Given the description of an element on the screen output the (x, y) to click on. 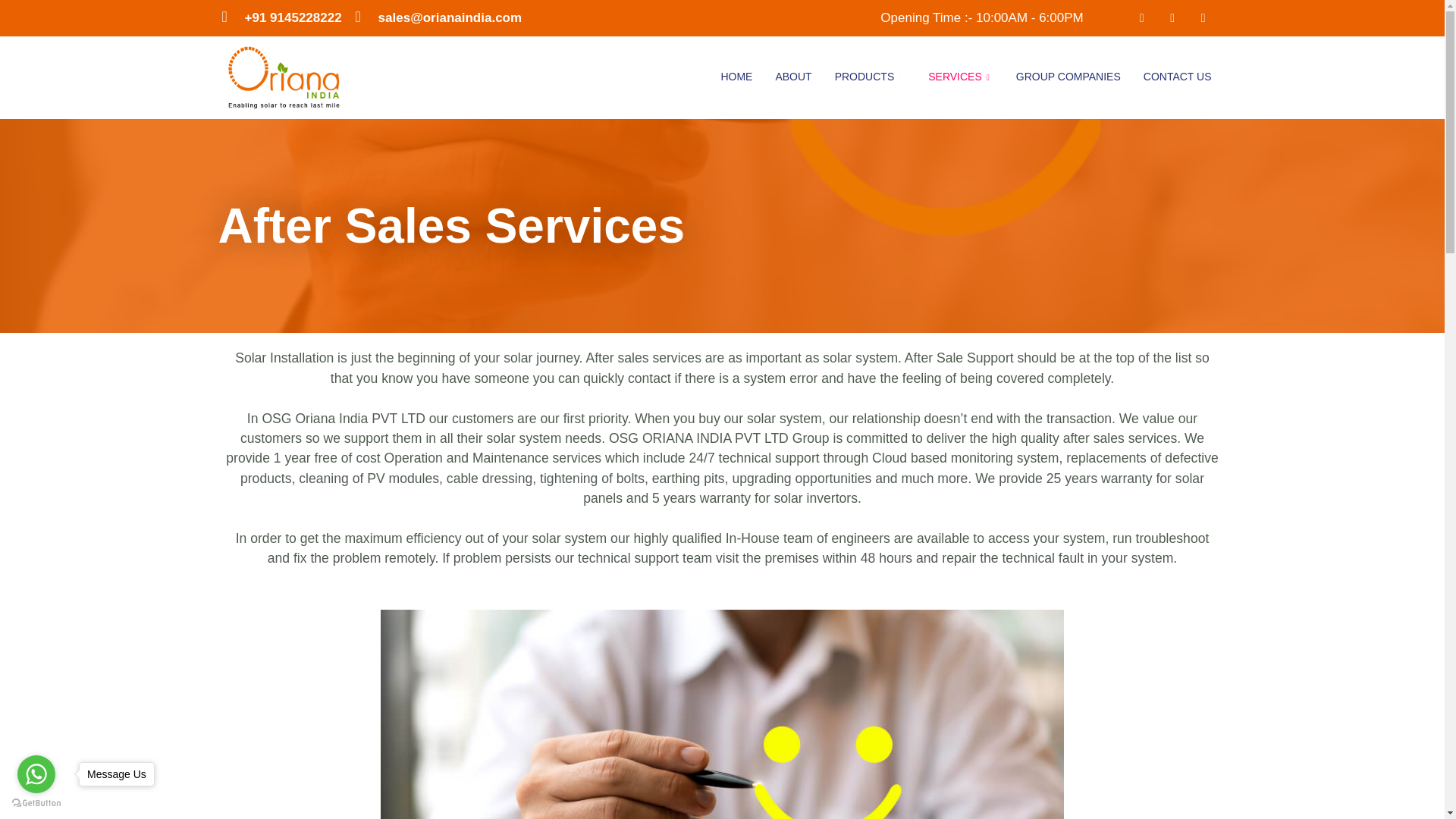
GROUP COMPANIES (1068, 77)
HOME (735, 77)
SERVICES (960, 77)
CONTACT US (1177, 77)
PRODUCTS (870, 77)
ABOUT (792, 77)
